Given the description of an element on the screen output the (x, y) to click on. 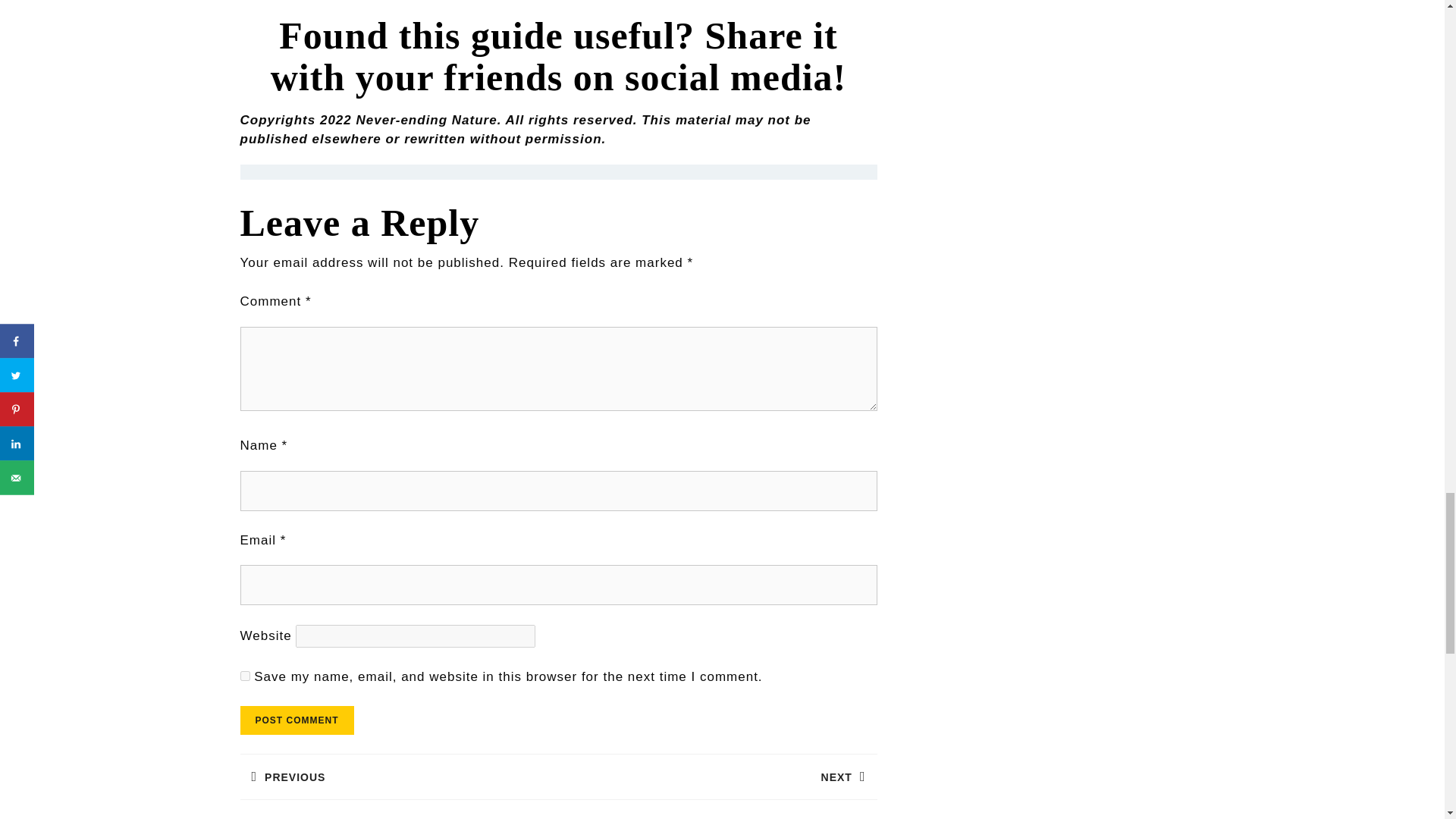
Post Comment (398, 776)
Post Comment (296, 719)
yes (296, 719)
